Given the description of an element on the screen output the (x, y) to click on. 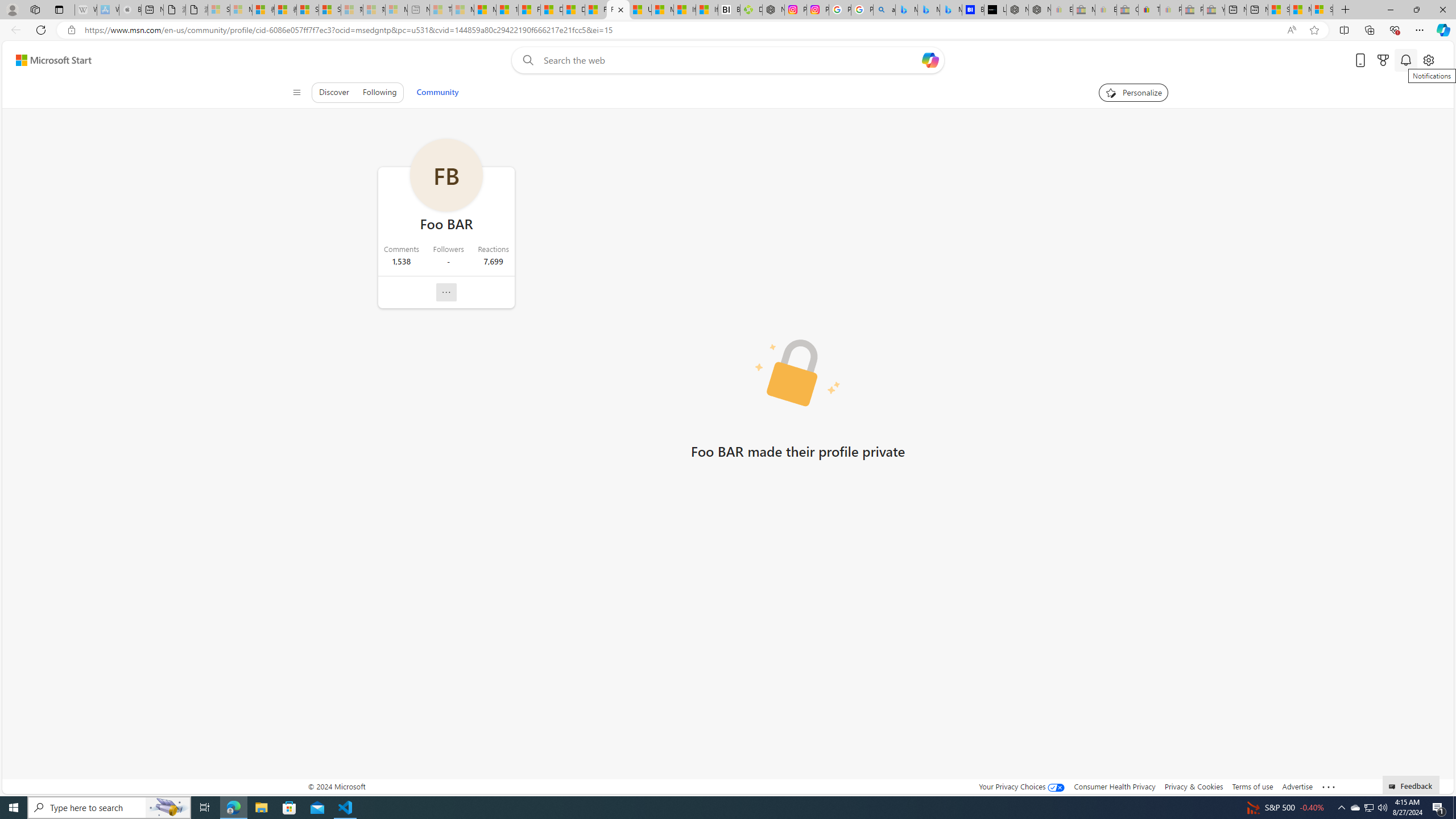
Payments Terms of Use | eBay.com - Sleeping (1170, 9)
Microsoft Services Agreement - Sleeping (241, 9)
Foo BAR | Trusted Community Engagement and Contributions (618, 9)
